Given the description of an element on the screen output the (x, y) to click on. 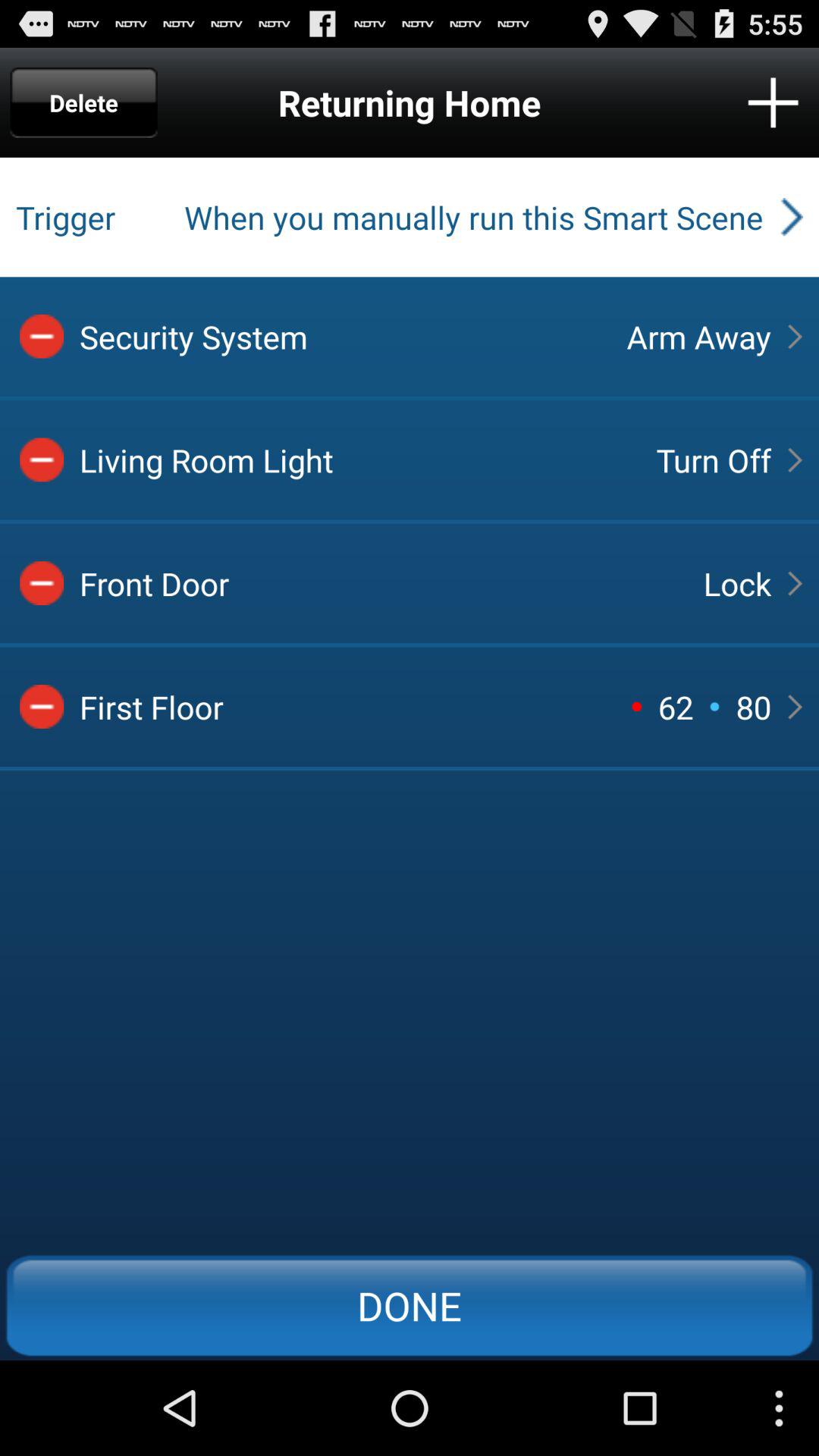
jump until the front door icon (378, 583)
